Given the description of an element on the screen output the (x, y) to click on. 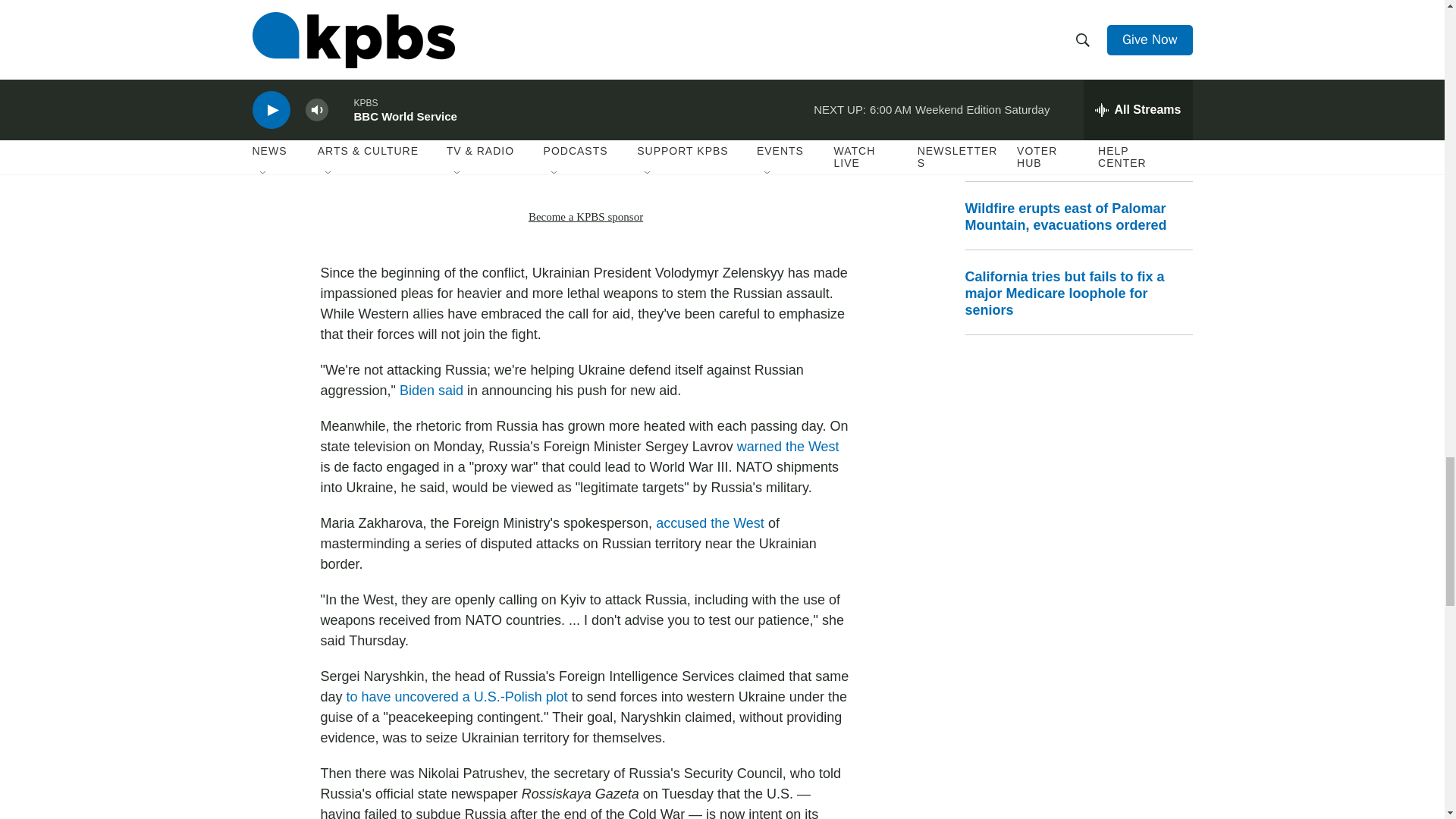
3rd party ad content (584, 166)
